Given the description of an element on the screen output the (x, y) to click on. 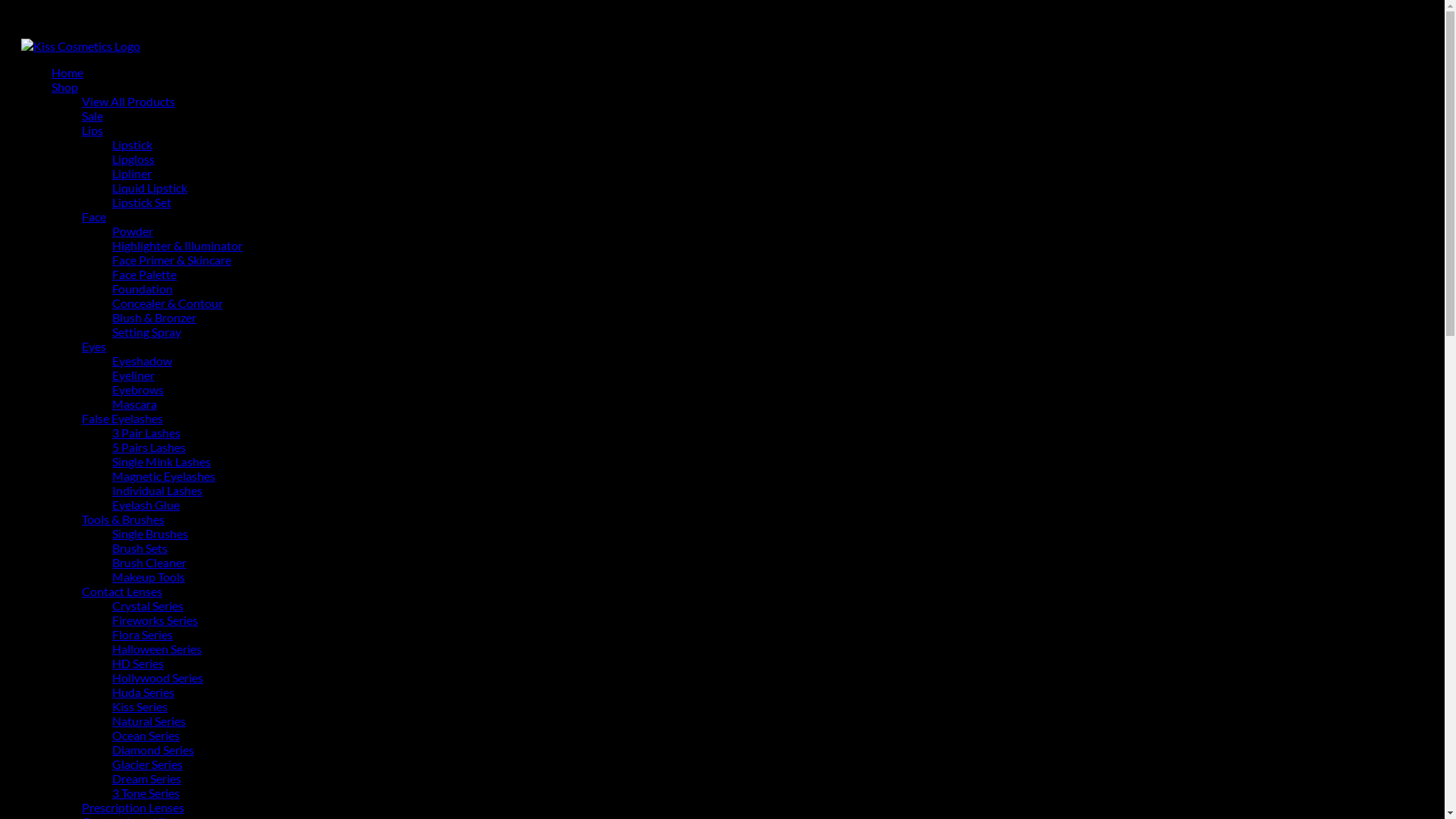
Brush Sets Element type: text (139, 547)
5 Pairs Lashes Element type: text (148, 446)
Home Element type: text (67, 72)
Huda Series Element type: text (143, 691)
Hollywood Series Element type: text (157, 677)
Setting Spray Element type: text (146, 331)
Makeup Tools Element type: text (148, 576)
Foundation Element type: text (142, 288)
Lips Element type: text (92, 129)
Eyes Element type: text (93, 345)
Mascara Element type: text (134, 403)
Flora Series Element type: text (142, 634)
Dream Series Element type: text (146, 778)
Prescription Lenses Element type: text (132, 807)
Highlighter & Illuminator Element type: text (177, 245)
Halloween Series Element type: text (156, 648)
Individual Lashes Element type: text (157, 490)
3 Tone Series Element type: text (145, 792)
False Eyelashes Element type: text (122, 418)
Natural Series Element type: text (148, 720)
Glacier Series Element type: text (147, 763)
Lipgloss Element type: text (133, 158)
Brush Cleaner Element type: text (149, 562)
Liquid Lipstick Element type: text (149, 187)
Face Element type: text (93, 216)
Eyebrows Element type: text (137, 389)
Kiss Series Element type: text (139, 706)
Crystal Series Element type: text (147, 605)
Kiss Cosmetics Element type: hover (80, 45)
Eyeshadow Element type: text (142, 360)
Fireworks Series Element type: text (155, 619)
HD Series Element type: text (137, 662)
Eyelash Glue Element type: text (145, 504)
Single Mink Lashes Element type: text (161, 461)
Lipstick Set Element type: text (141, 201)
Magnetic Eyelashes Element type: text (163, 475)
Concealer & Contour Element type: text (167, 302)
Lipstick Element type: text (132, 144)
Single Brushes Element type: text (150, 533)
Sale Element type: text (92, 115)
Face Primer & Skincare Element type: text (171, 259)
Powder Element type: text (132, 230)
Ocean Series Element type: text (145, 735)
Eyeliner Element type: text (133, 374)
3 Pair Lashes Element type: text (146, 432)
Blush & Bronzer Element type: text (154, 317)
Tools & Brushes Element type: text (122, 518)
Lipliner Element type: text (131, 173)
Contact Lenses Element type: text (121, 590)
View All Products Element type: text (128, 101)
Diamond Series Element type: text (153, 749)
Face Palette Element type: text (144, 273)
Shop Element type: text (64, 86)
